Given the description of an element on the screen output the (x, y) to click on. 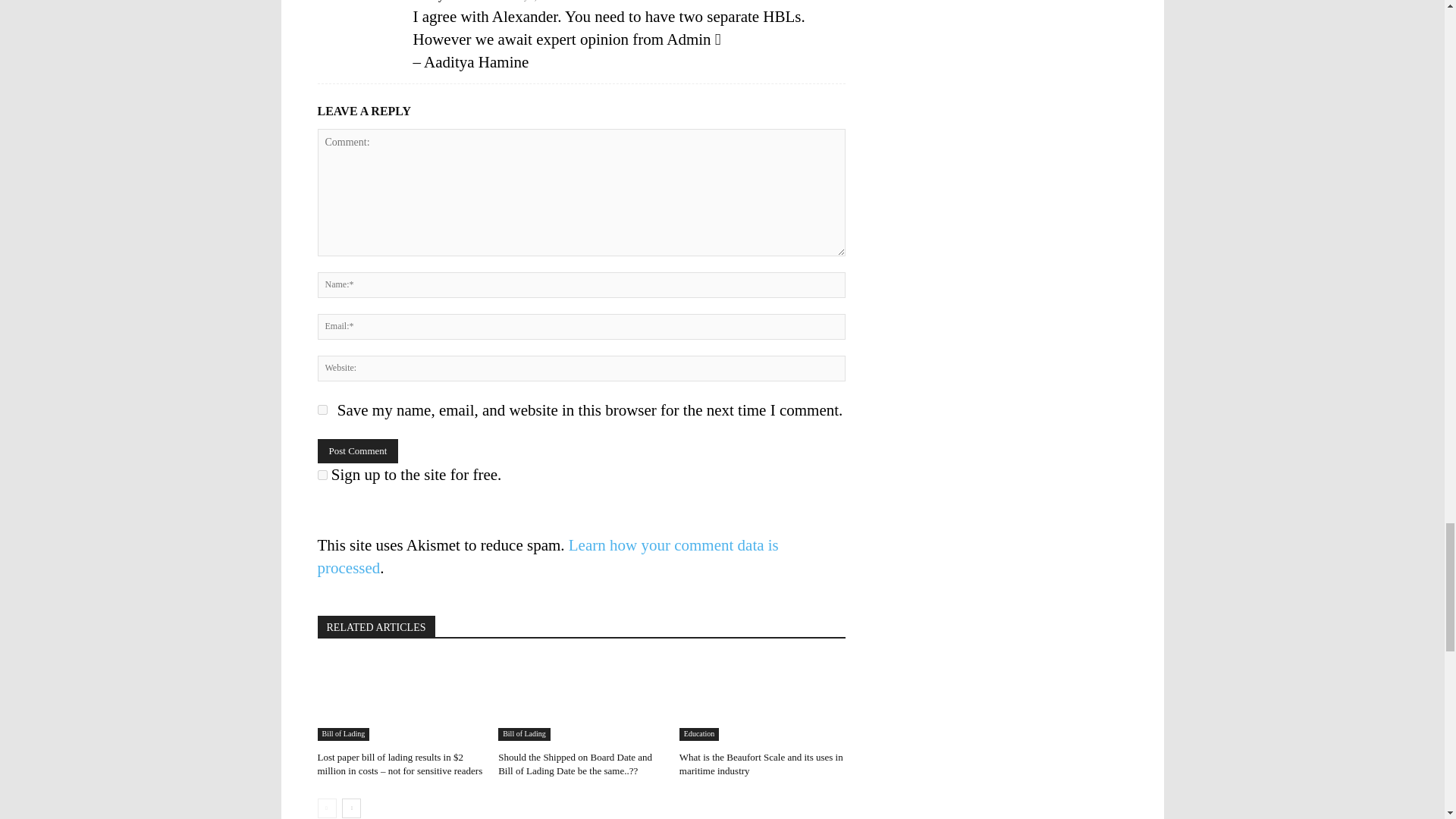
Post Comment (357, 450)
yes (321, 409)
1 (321, 474)
